Given the description of an element on the screen output the (x, y) to click on. 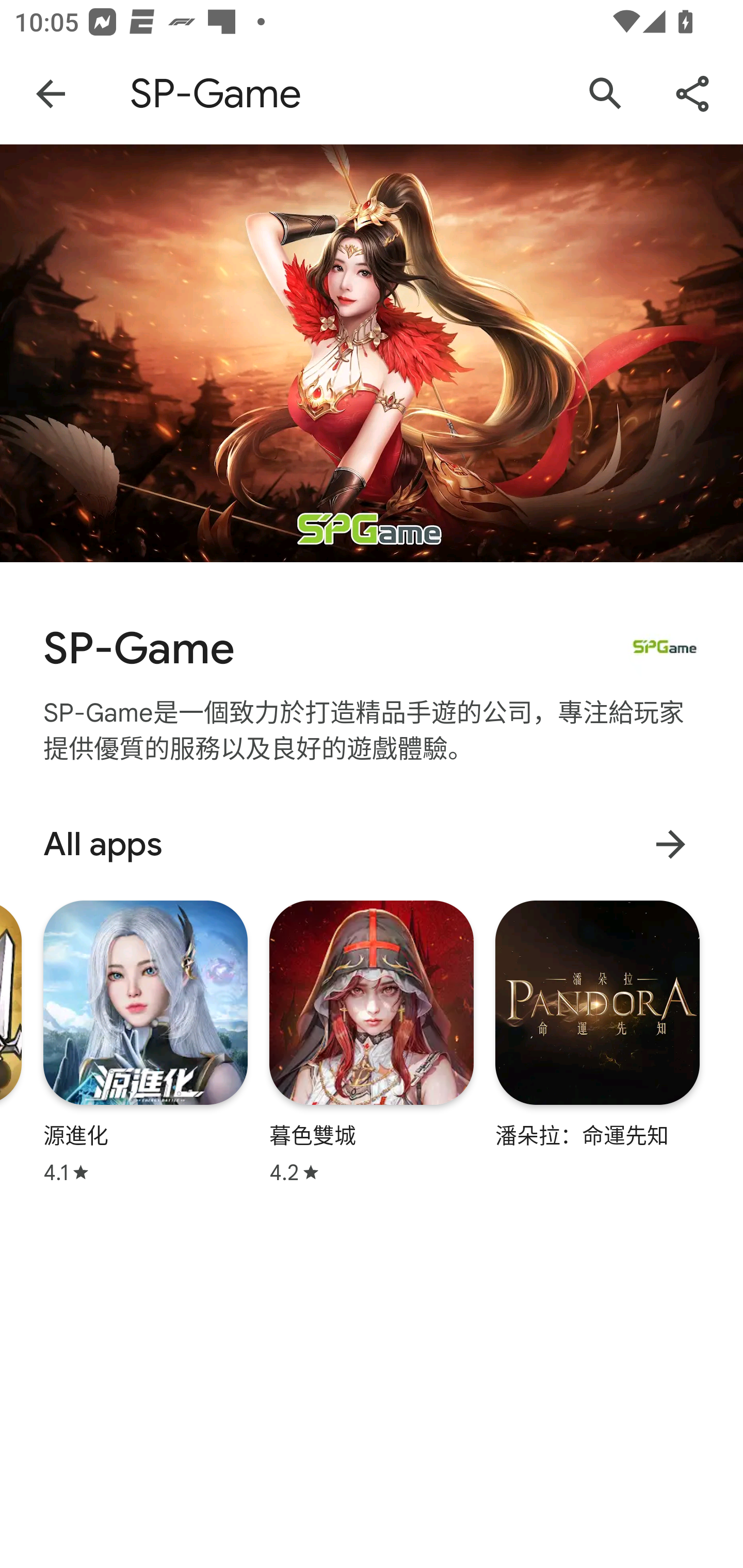
Navigate up (50, 93)
Search Google Play (605, 93)
Share (692, 93)
All apps More results for All apps (371, 844)
More results for All apps (670, 844)
源進化
Star rating: 4.1
 (145, 1041)
暮色雙城
Star rating: 4.2
 (371, 1041)
潘朵拉：命運先知
 (597, 1023)
